Given the description of an element on the screen output the (x, y) to click on. 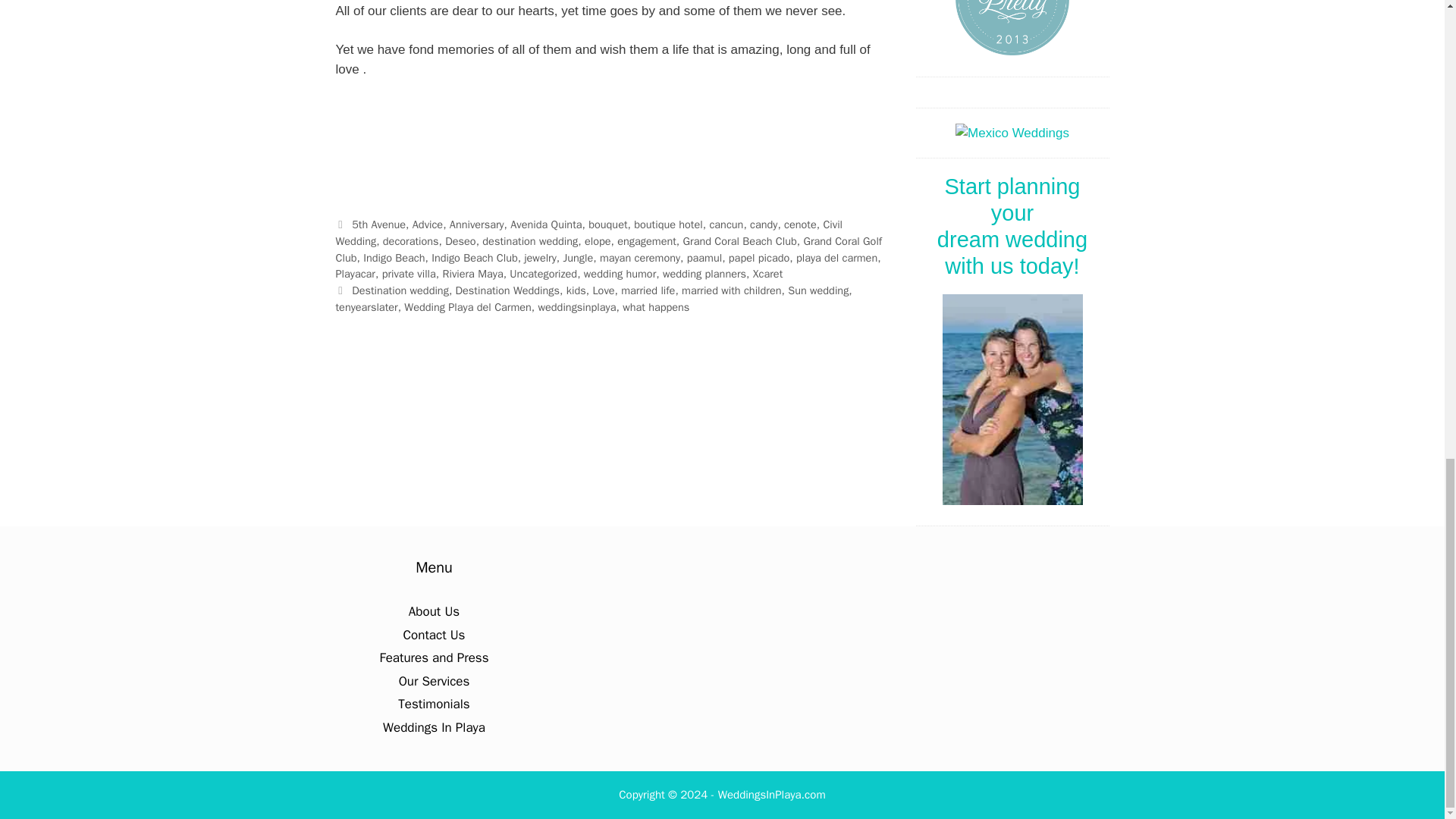
cenote (800, 223)
Deseo (460, 241)
5th Avenue (379, 223)
Advice (427, 223)
wedding humor (619, 273)
boutique hotel (668, 223)
private villa (408, 273)
Anniversary (476, 223)
Jungle (577, 257)
Civil Wedding (588, 232)
